Given the description of an element on the screen output the (x, y) to click on. 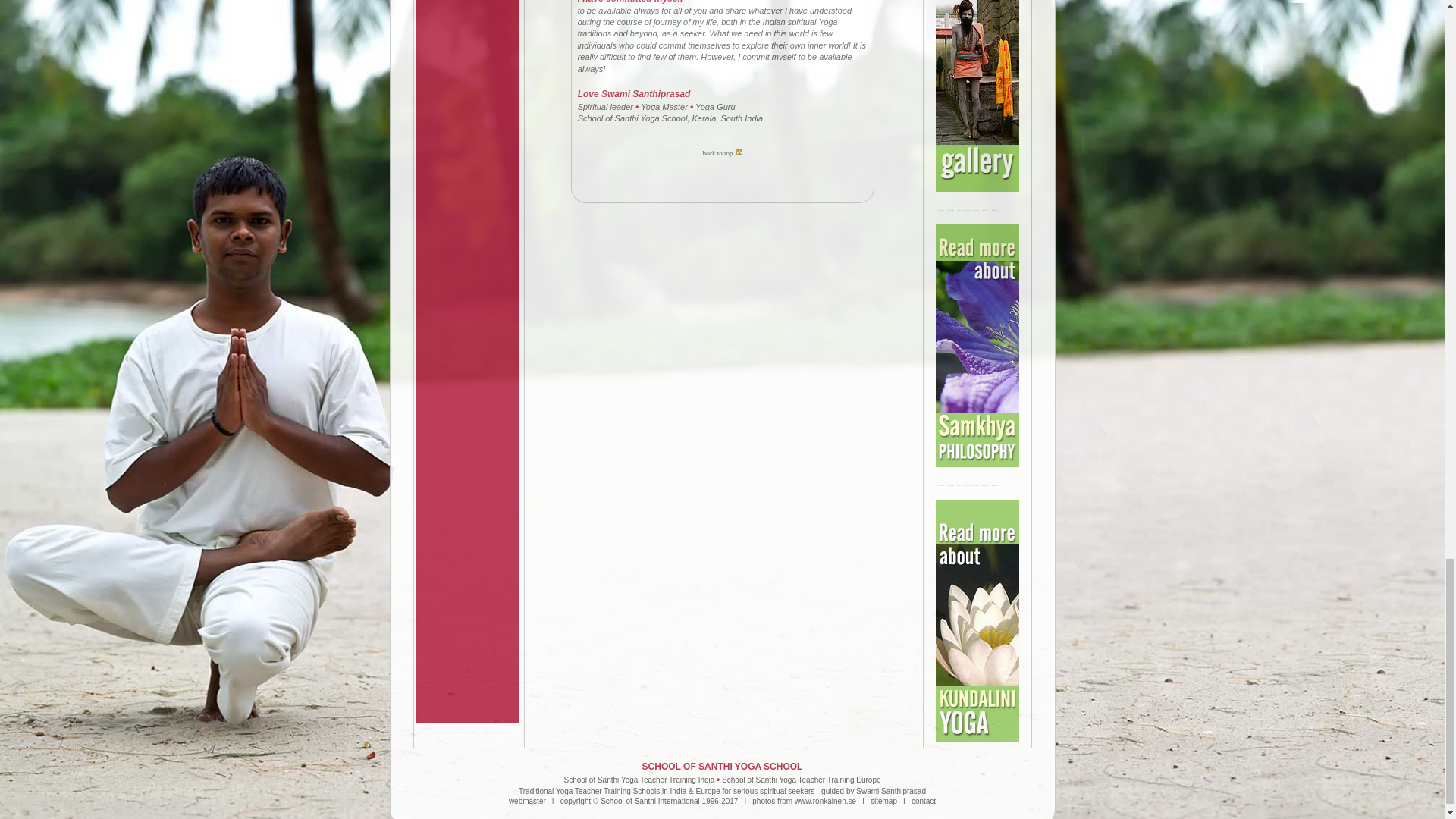
back to top   (721, 171)
